Given the description of an element on the screen output the (x, y) to click on. 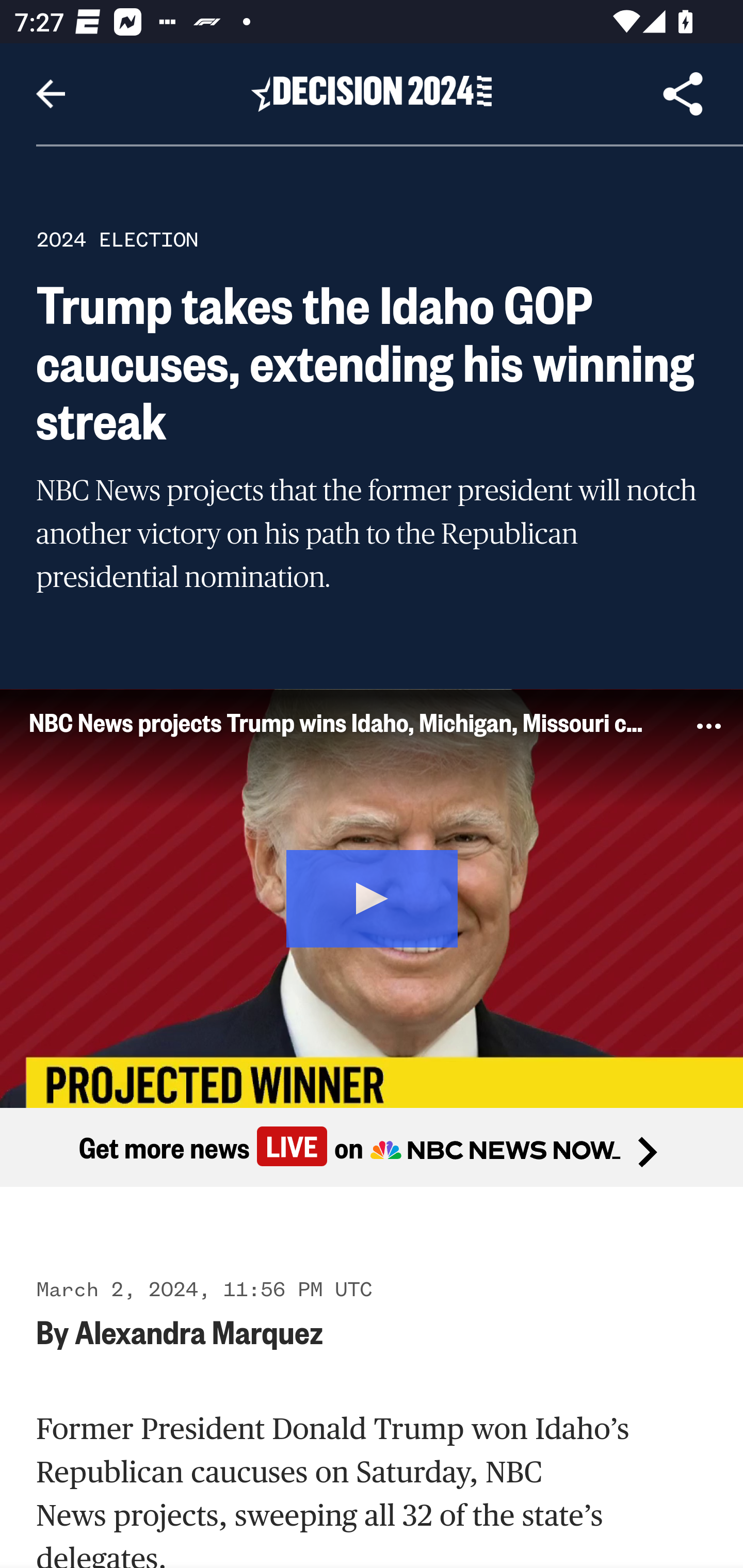
Navigate up (50, 93)
Share Article, button (683, 94)
Header, Decision 2024 (371, 93)
2024 ELECTION (117, 239)
Video Player Unable to play media. Play   (371, 897)
Play (372, 896)
Get more news Live on Get more news Live on (371, 1147)
